Given the description of an element on the screen output the (x, y) to click on. 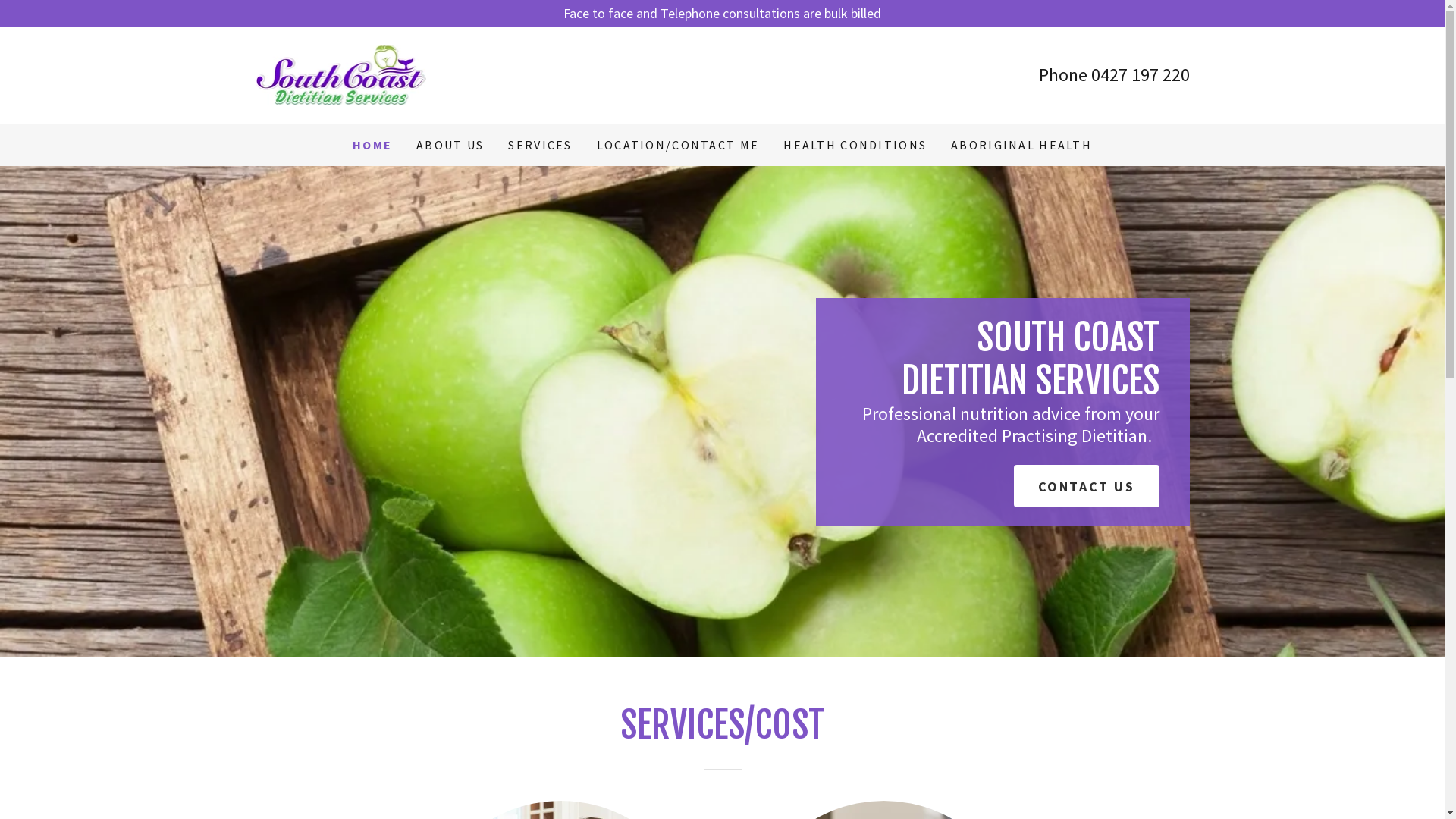
HOME Element type: text (372, 144)
0427 197 220 Element type: text (1139, 74)
ABOUT US Element type: text (449, 144)
South Coast Dietitian Services Element type: hover (340, 72)
ABORIGINAL HEALTH Element type: text (1021, 144)
HEALTH CONDITIONS Element type: text (854, 144)
LOCATION/CONTACT ME Element type: text (677, 144)
CONTACT US Element type: text (1086, 485)
SERVICES Element type: text (539, 144)
